Given the description of an element on the screen output the (x, y) to click on. 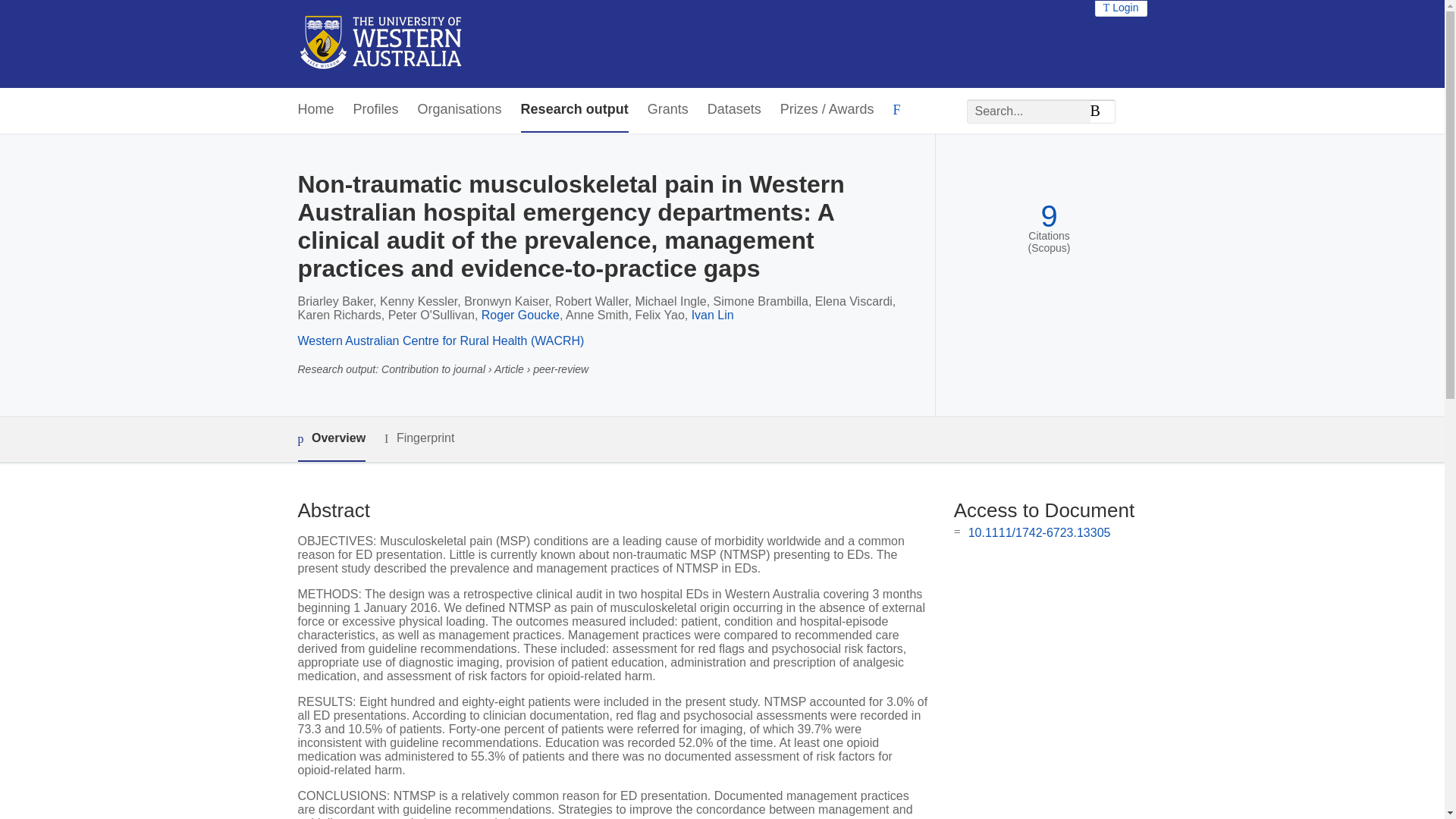
Login (1121, 7)
Research output (574, 109)
Grants (667, 109)
Ivan Lin (712, 314)
the UWA Profiles and Research Repository Home (380, 43)
Profiles (375, 109)
Roger Goucke (520, 314)
Overview (331, 438)
Fingerprint (419, 438)
